Given the description of an element on the screen output the (x, y) to click on. 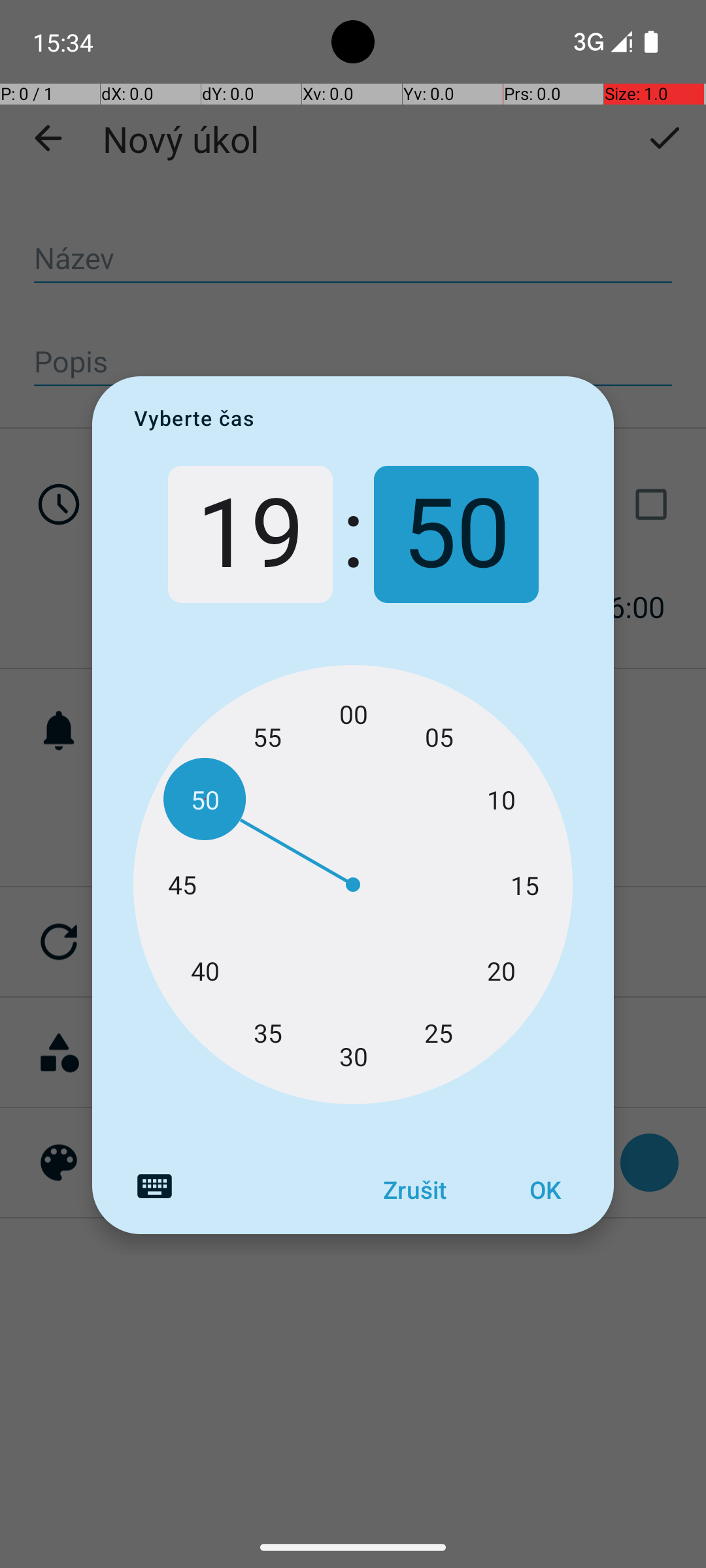
Chcete-li zadat čas, přepněte na režim textu. Element type: android.widget.Button (154, 1186)
